Given the description of an element on the screen output the (x, y) to click on. 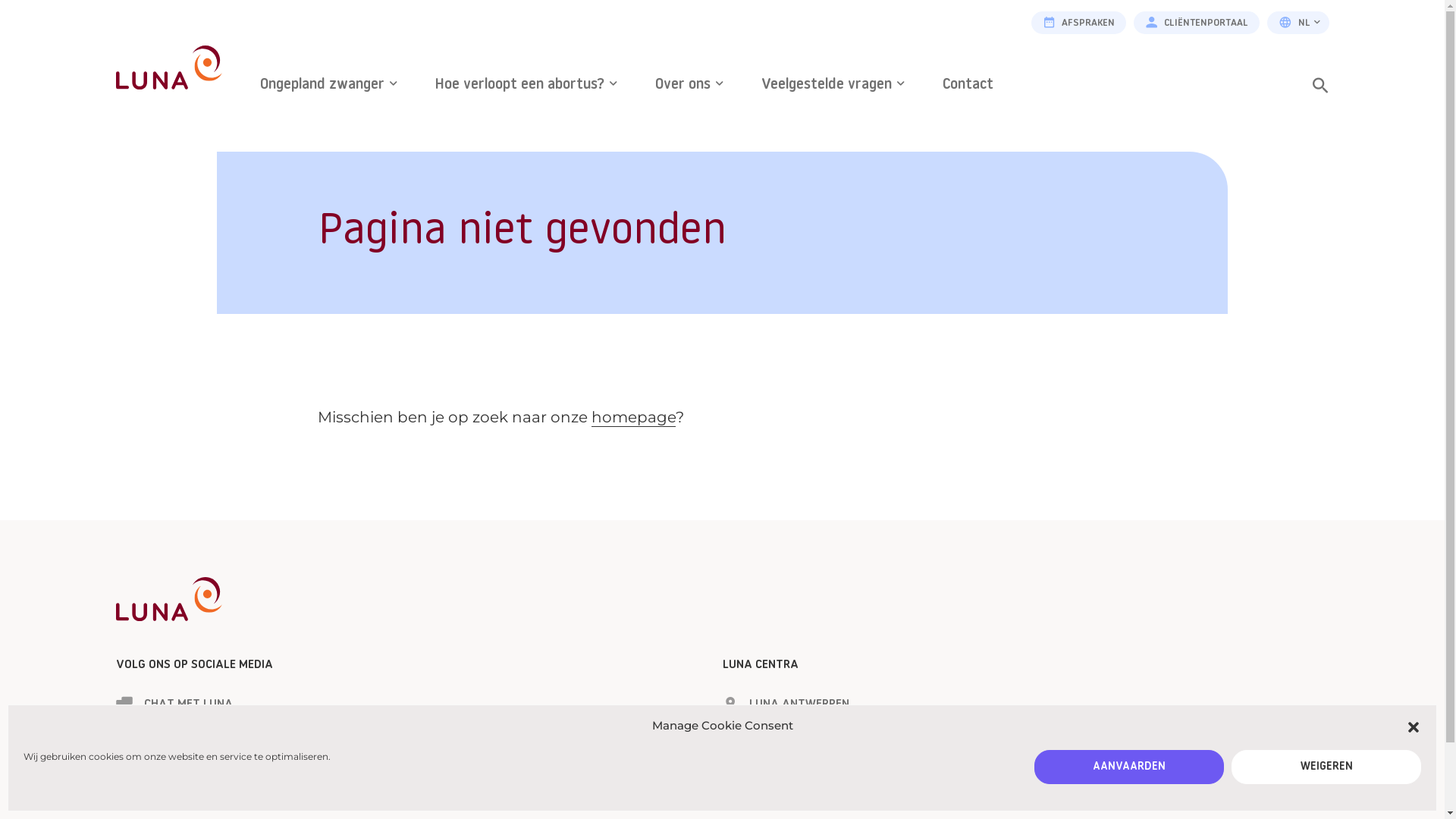
Over ons Element type: text (689, 85)
INSTAGRAM Element type: text (161, 754)
VUB DILEMMA BRUSSEL Element type: text (797, 800)
Ongepland zwanger Element type: text (327, 85)
AANVAARDEN Element type: text (1128, 766)
YOUTUBE Element type: text (153, 777)
FACEBOOK Element type: text (156, 730)
LUNA ANTWERPEN Element type: text (784, 705)
LUNA HASSELT Element type: text (775, 752)
LUNA GENT Element type: text (765, 728)
Contact Element type: text (966, 85)
Hoe verloopt een abortus? Element type: text (526, 85)
NL Element type: text (1297, 22)
AFSPRAKEN Element type: text (1078, 22)
LINKEDIN Element type: text (152, 802)
homepage Element type: text (633, 416)
Veelgestelde vragen Element type: text (832, 85)
LUNA OOSTENDE Element type: text (779, 776)
WEIGEREN Element type: text (1326, 766)
CHAT MET LUNA Element type: text (173, 705)
